Given the description of an element on the screen output the (x, y) to click on. 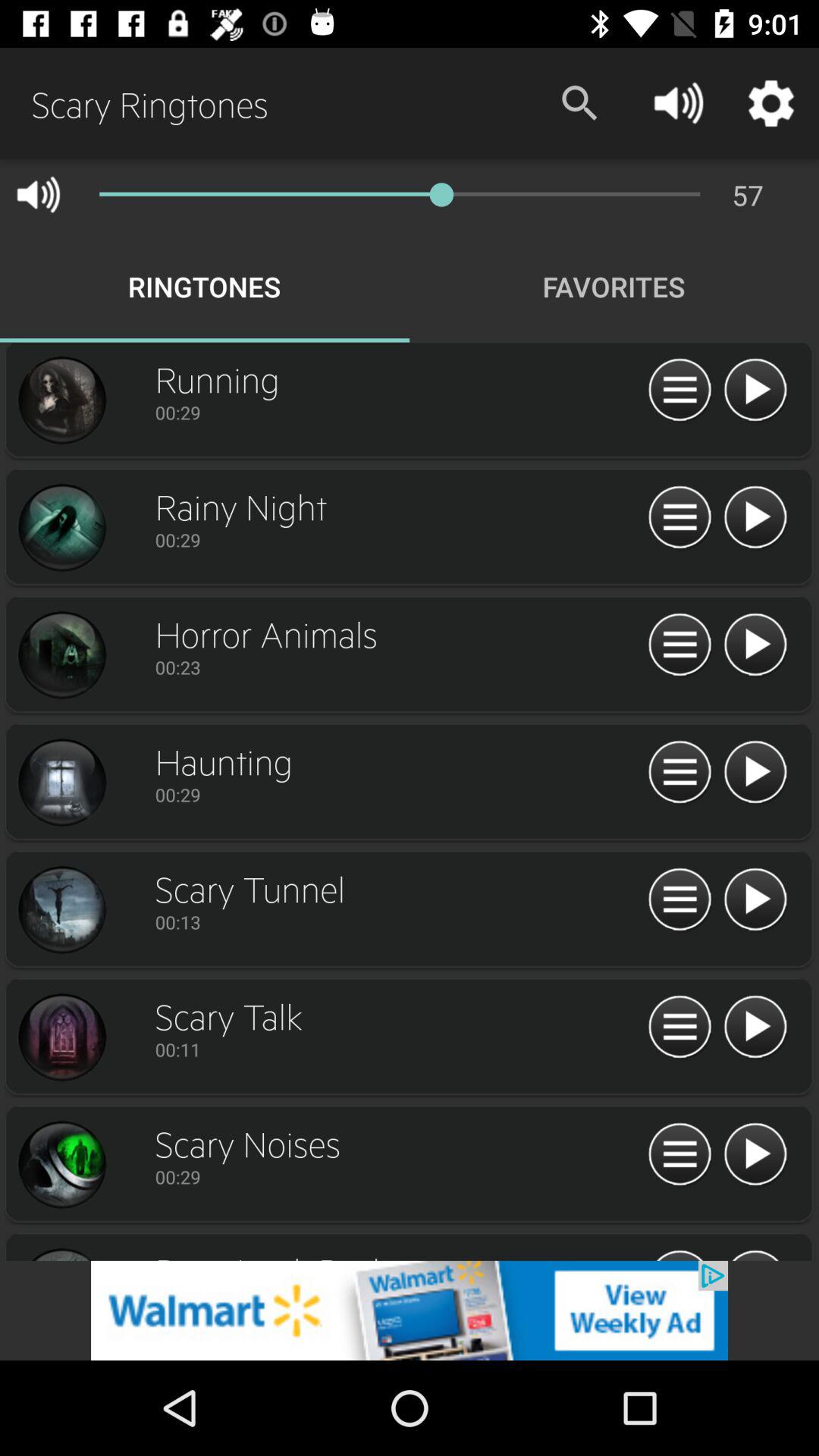
open more features (679, 390)
